Given the description of an element on the screen output the (x, y) to click on. 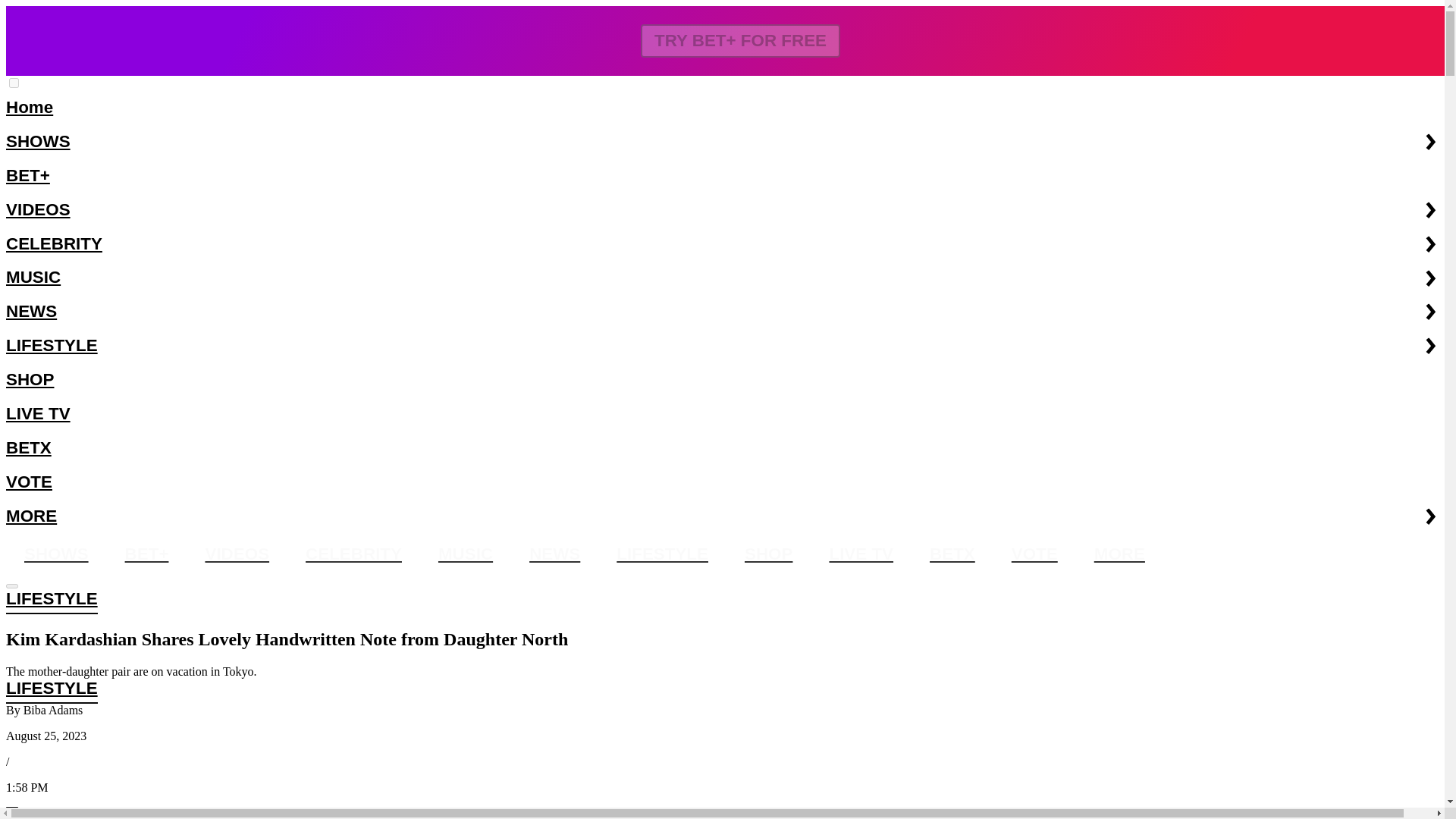
Chevron-icon (1430, 515)
CELEBRITY (721, 244)
MUSIC (721, 277)
Chevron-icon (1430, 209)
Home (721, 107)
Chevron-icon (1430, 278)
Chevron-icon (1430, 141)
Chevron-icon (1430, 311)
Chevron-icon (1430, 244)
SHOWS (721, 141)
on (13, 82)
VIDEOS (721, 210)
Chevron-icon (1430, 345)
